Given the description of an element on the screen output the (x, y) to click on. 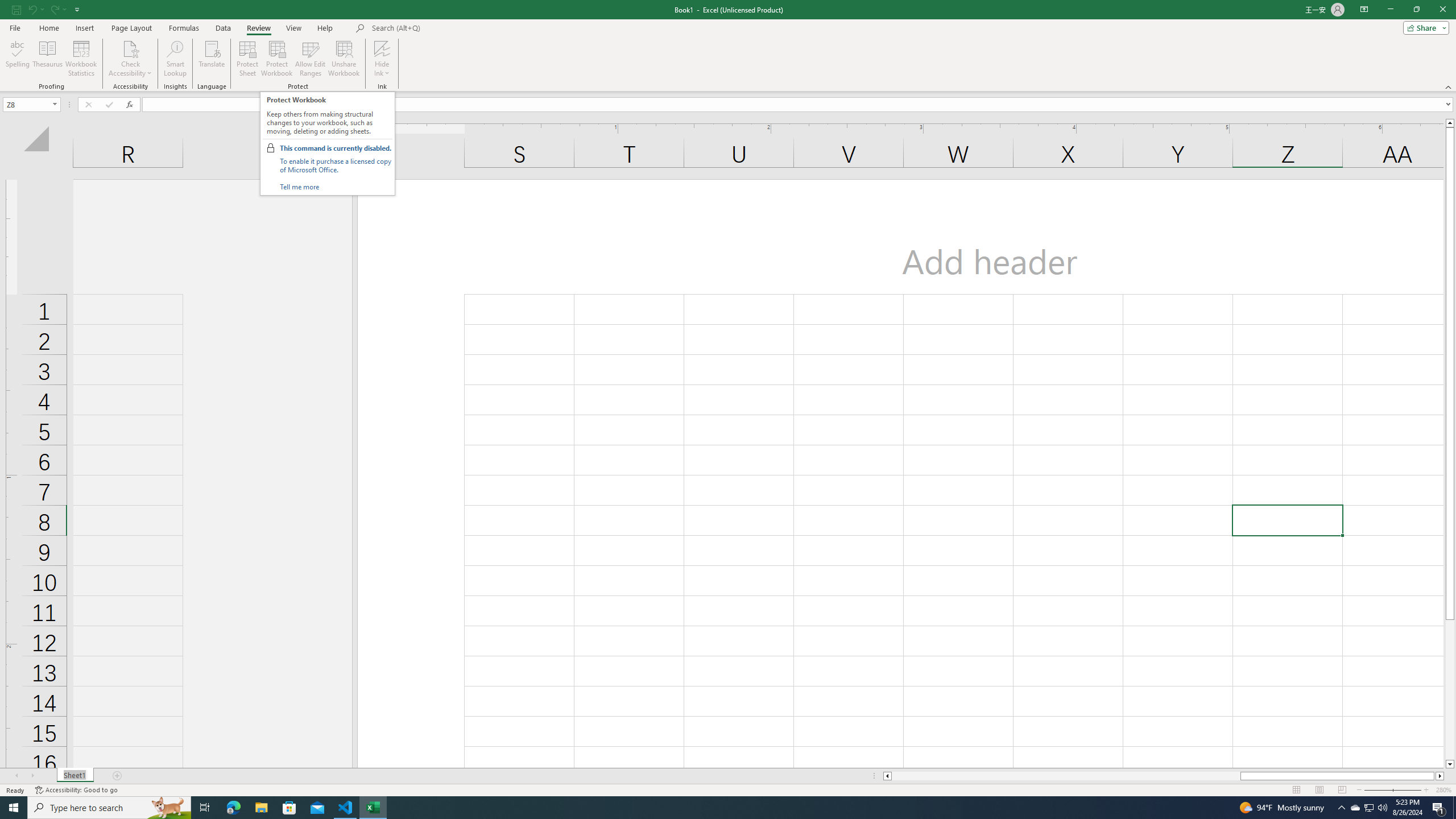
Translate (211, 58)
